Given the description of an element on the screen output the (x, y) to click on. 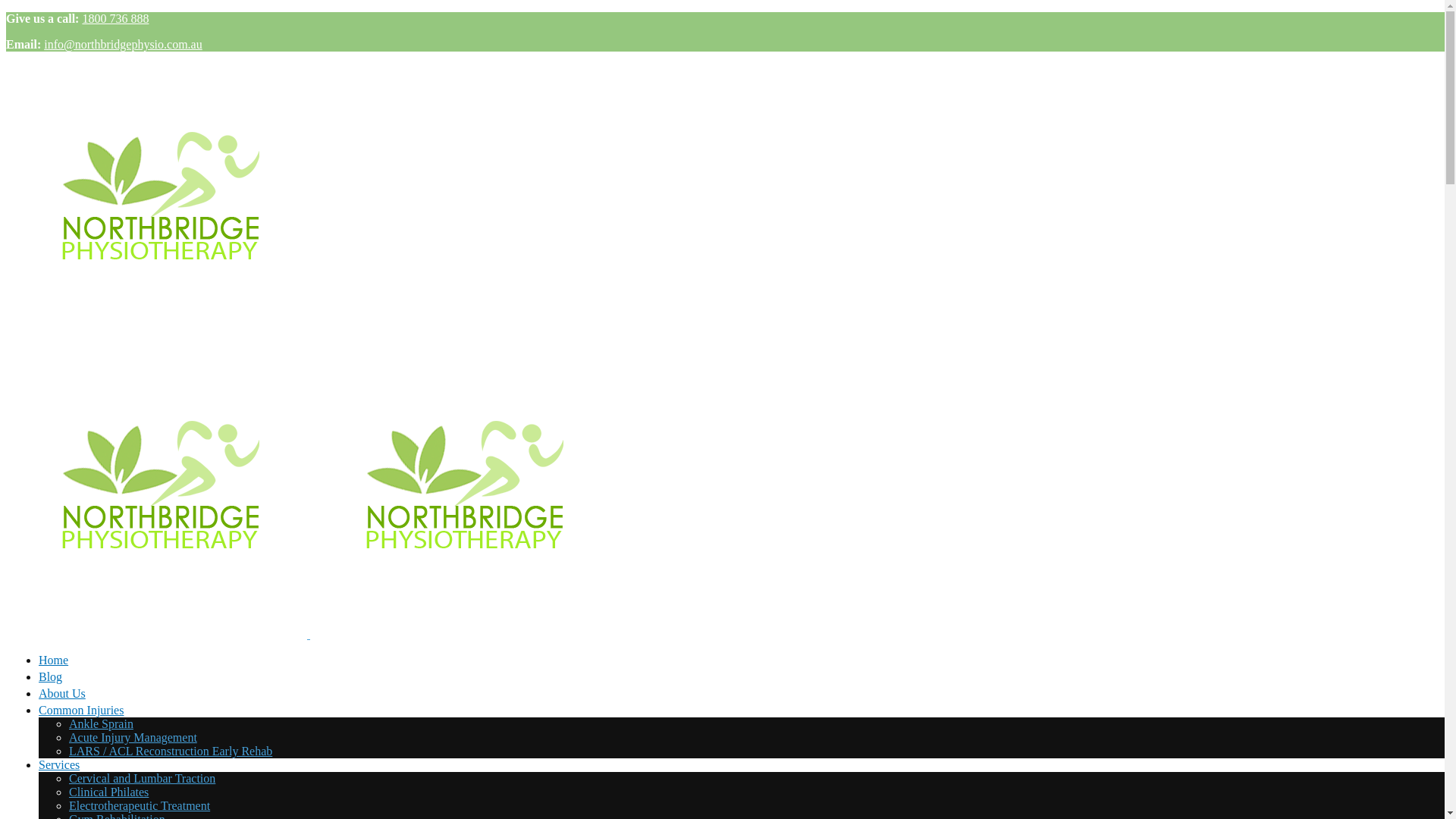
Cervical and Lumbar Traction Element type: text (142, 777)
About Us Element type: text (744, 695)
1800 736 888 Element type: text (114, 18)
Common Injuries Element type: text (80, 709)
Electrotherapeutic Treatment Element type: text (139, 805)
Services Element type: text (58, 764)
Clinical Philates Element type: text (108, 791)
Blog Element type: text (744, 678)
Home Element type: text (744, 661)
Ankle Sprain Element type: text (101, 723)
info@northbridgephysio.com.au Element type: text (122, 43)
Acute Injury Management Element type: text (133, 737)
LARS / ACL Reconstruction Early Rehab Element type: text (170, 750)
